Given the description of an element on the screen output the (x, y) to click on. 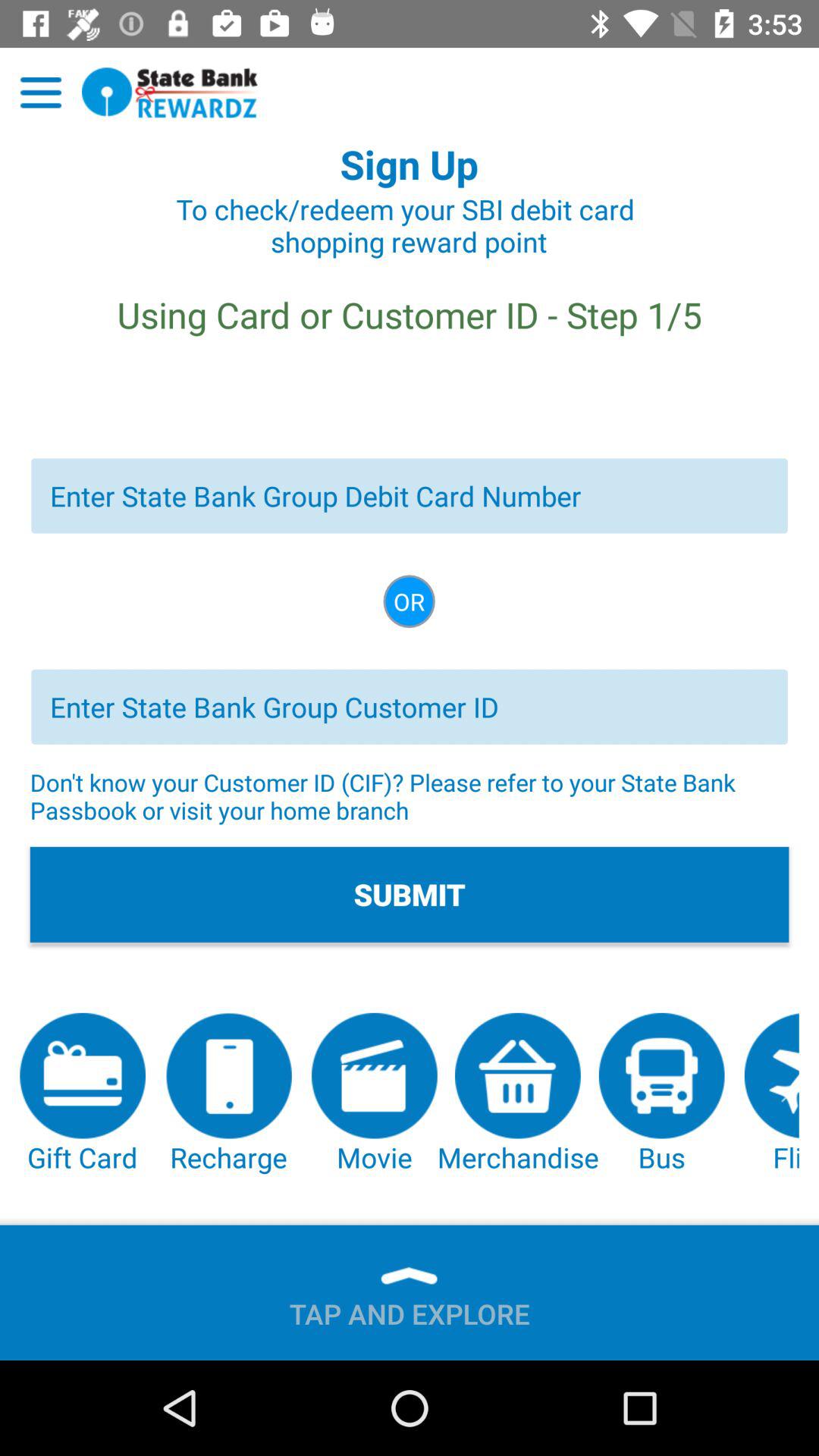
launch the icon to the left of the movie item (228, 1094)
